Given the description of an element on the screen output the (x, y) to click on. 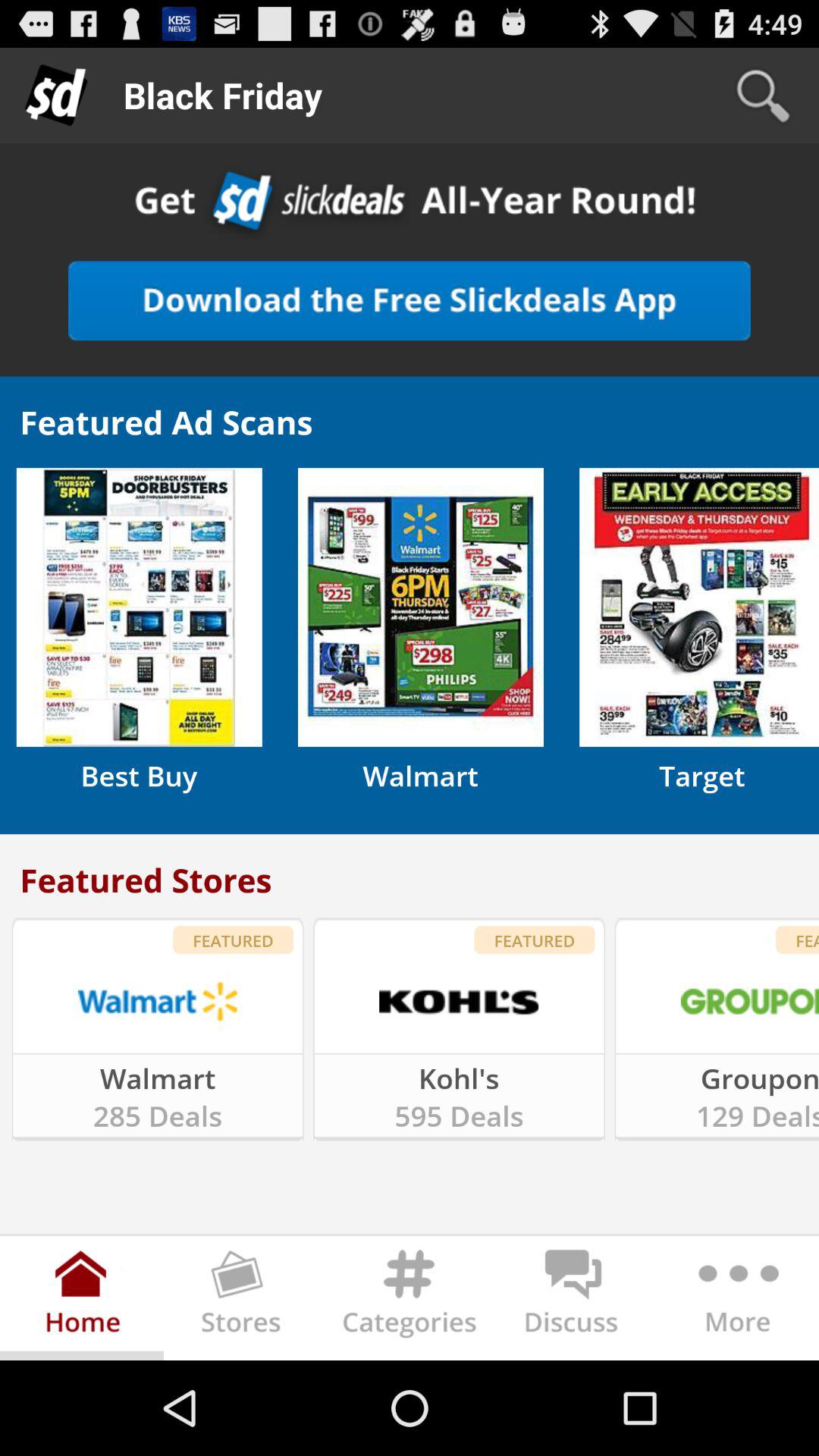
go to favorite (409, 300)
